Given the description of an element on the screen output the (x, y) to click on. 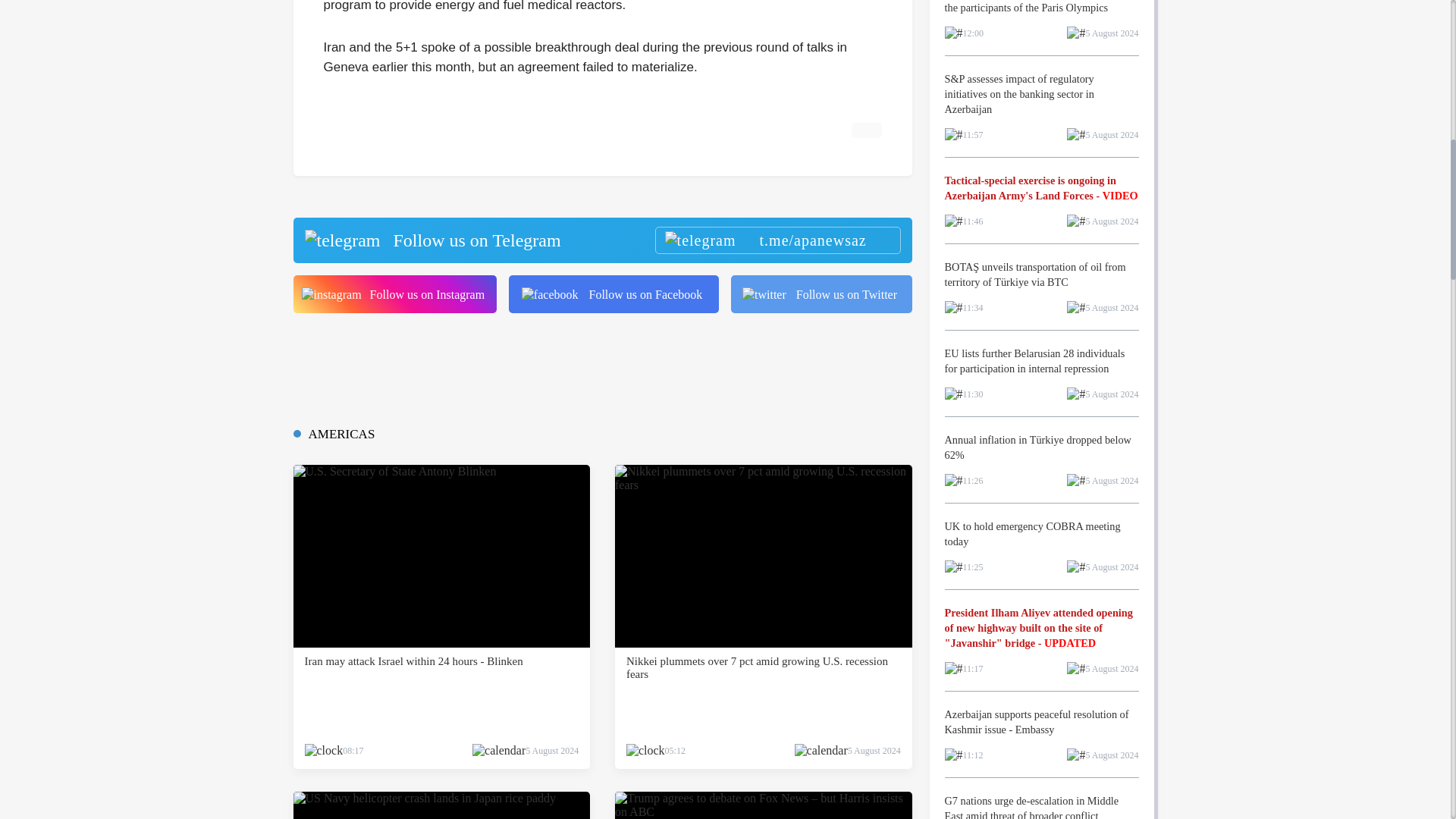
Follow us on Telegram (601, 239)
Follow us on Facebook (613, 293)
Follow us on Twitter (821, 293)
Follow us on Instagram (394, 293)
